Given the description of an element on the screen output the (x, y) to click on. 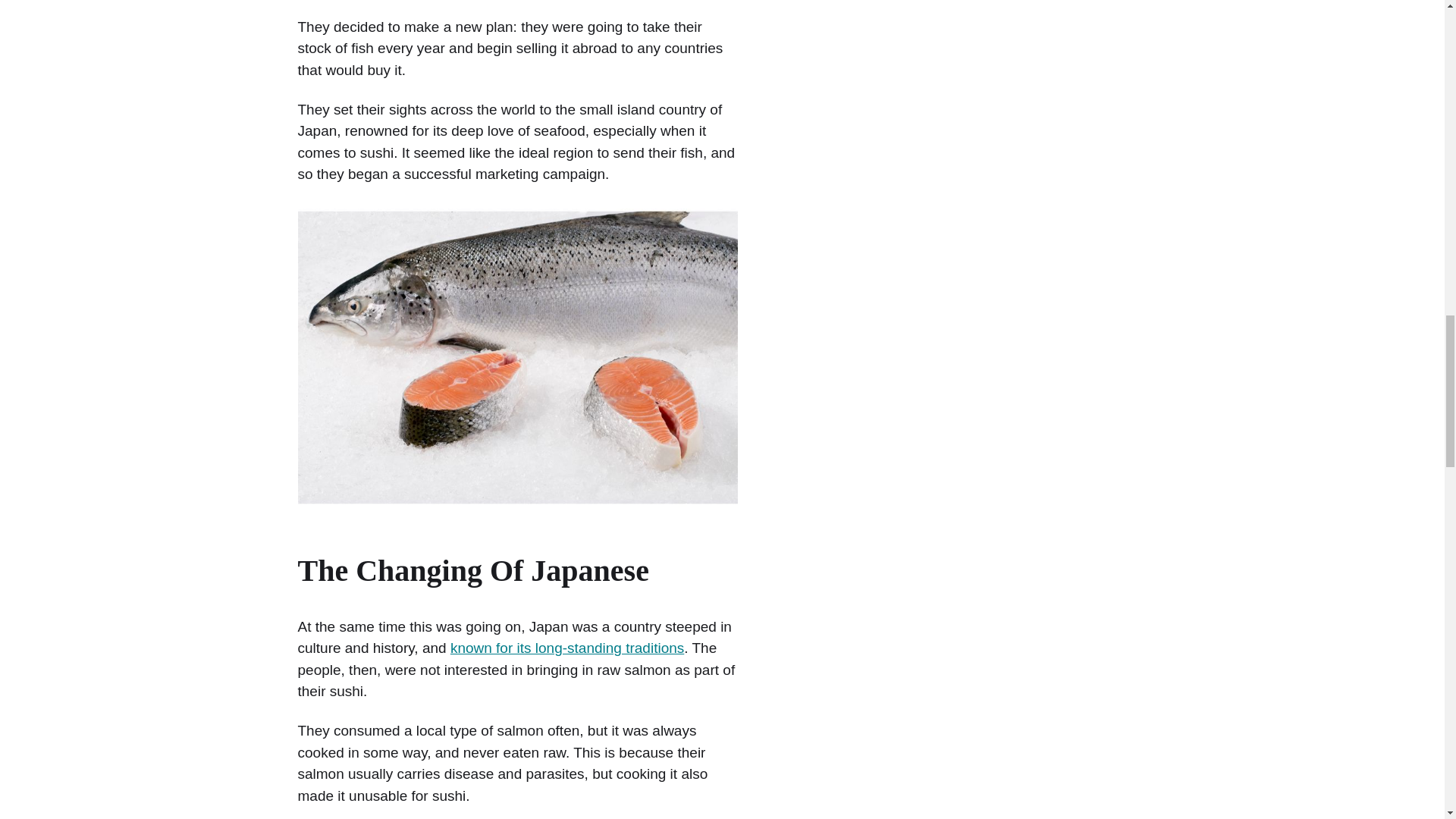
known for its long-standing traditions (566, 647)
